Given the description of an element on the screen output the (x, y) to click on. 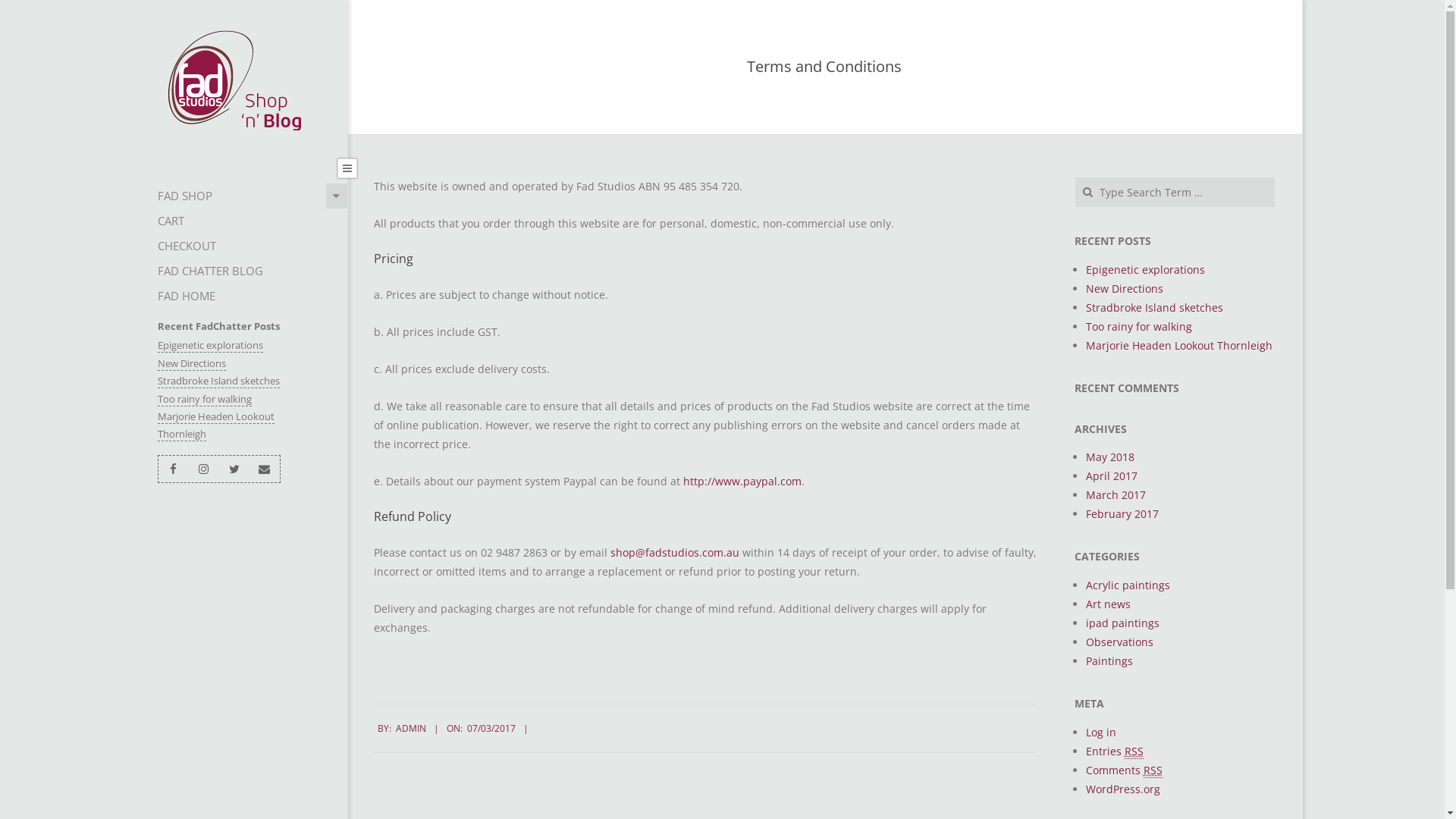
WordPress.org Element type: text (1122, 788)
New Directions Element type: text (191, 363)
FAD SHOP Element type: text (244, 195)
CART Element type: text (244, 220)
FAD HOME Element type: text (244, 295)
Log in Element type: text (1100, 731)
Paintings Element type: text (1108, 660)
Stradbroke Island sketches Element type: text (218, 380)
Marjorie Headen Lookout Thornleigh Element type: text (215, 425)
Observations Element type: text (1119, 641)
March 2017 Element type: text (1115, 494)
Entries RSS Element type: text (1114, 751)
February 2017 Element type: text (1121, 513)
ADMIN Element type: text (410, 727)
Stradbroke Island sketches Element type: text (1154, 307)
Comments RSS Element type: text (1123, 770)
Epigenetic explorations Element type: text (1144, 269)
CHECKOUT Element type: text (244, 245)
ipad paintings Element type: text (1122, 622)
Too rainy for walking Element type: text (1138, 326)
FAD CHATTER BLOG Element type: text (244, 270)
Epigenetic explorations Element type: text (210, 345)
Acrylic paintings Element type: text (1127, 584)
http://www.paypal.com Element type: text (741, 480)
Skip to content Element type: text (142, 0)
  Element type: text (739, 552)
Art news Element type: text (1107, 603)
April 2017 Element type: text (1111, 475)
May 2018 Element type: text (1109, 456)
shop@fadstudios.com.au Element type: text (673, 552)
Marjorie Headen Lookout Thornleigh Element type: text (1178, 345)
Too rainy for walking Element type: text (204, 398)
New Directions Element type: text (1124, 288)
